Given the description of an element on the screen output the (x, y) to click on. 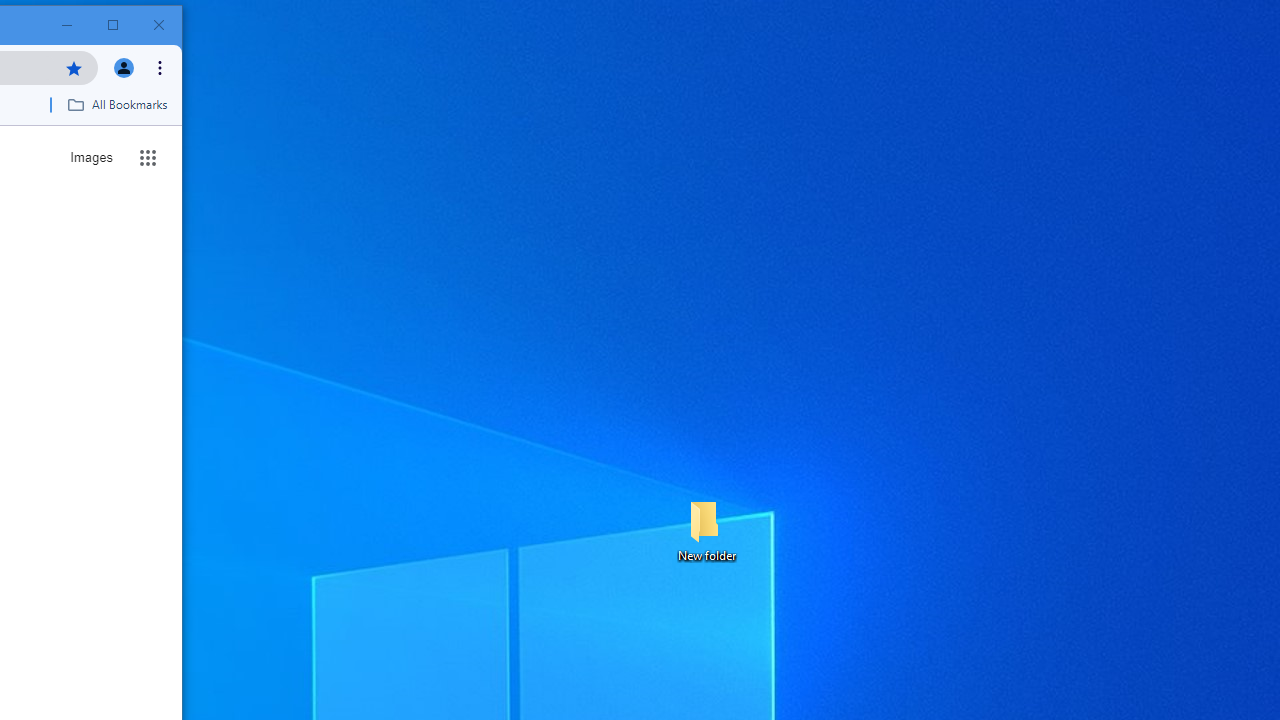
New folder (706, 530)
